Given the description of an element on the screen output the (x, y) to click on. 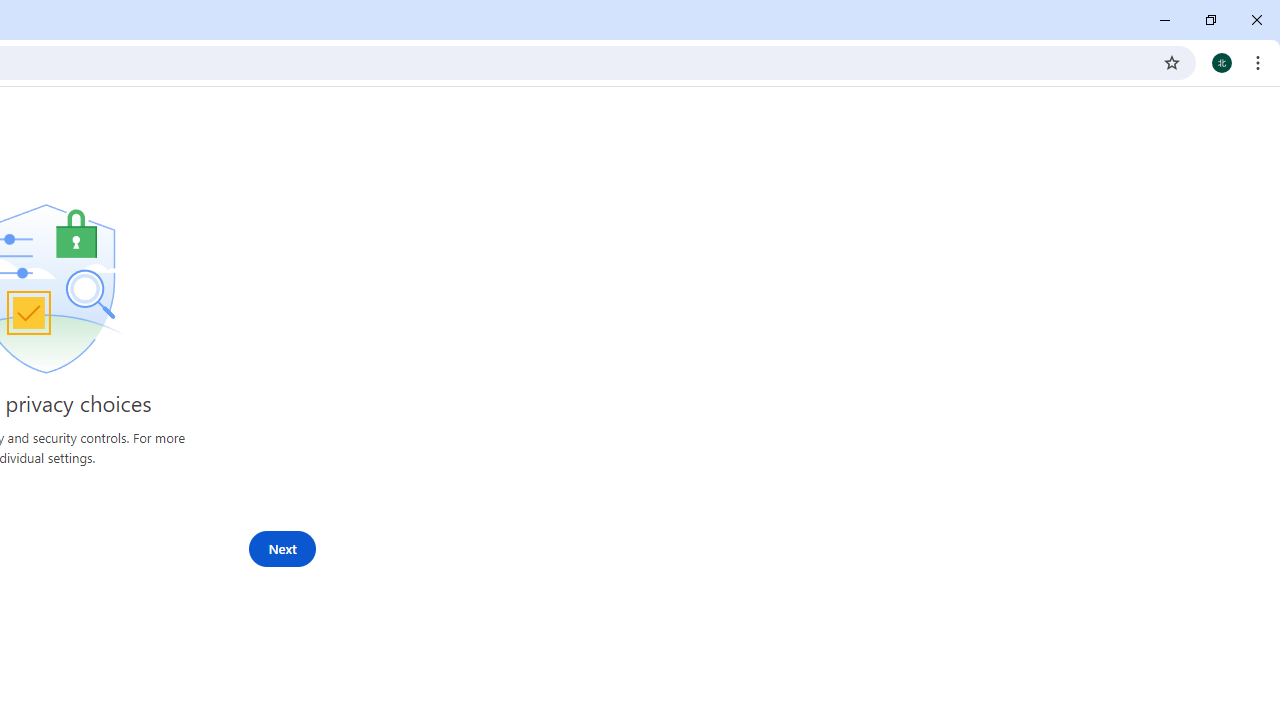
Next (282, 549)
